Given the description of an element on the screen output the (x, y) to click on. 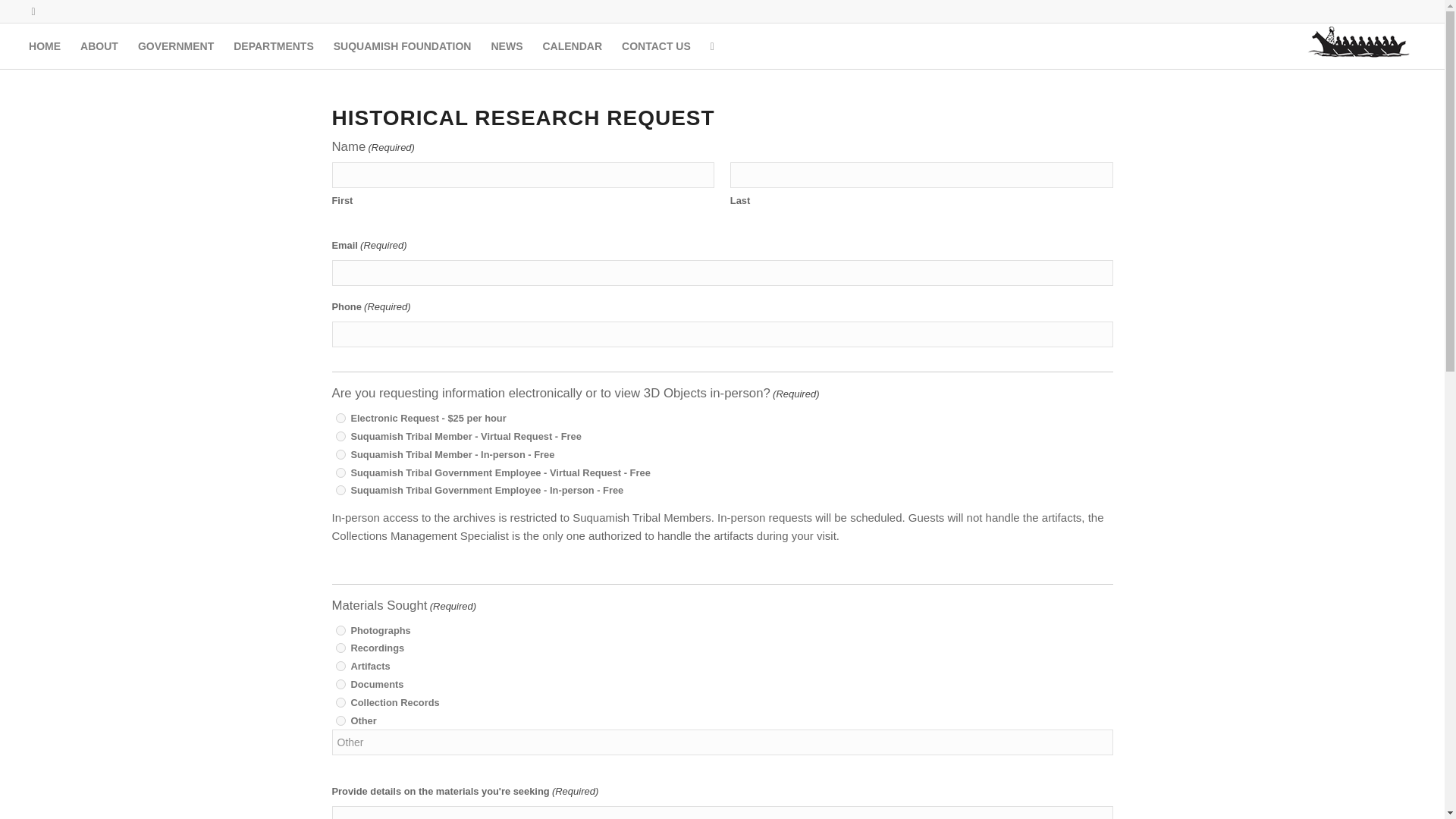
DEPARTMENTS (273, 45)
Artifacts (339, 665)
Collection Records (339, 702)
GOVERNMENT (176, 45)
NEWS (506, 45)
Facebook (33, 11)
HOME (43, 45)
Documents (339, 684)
Other (722, 742)
